Given the description of an element on the screen output the (x, y) to click on. 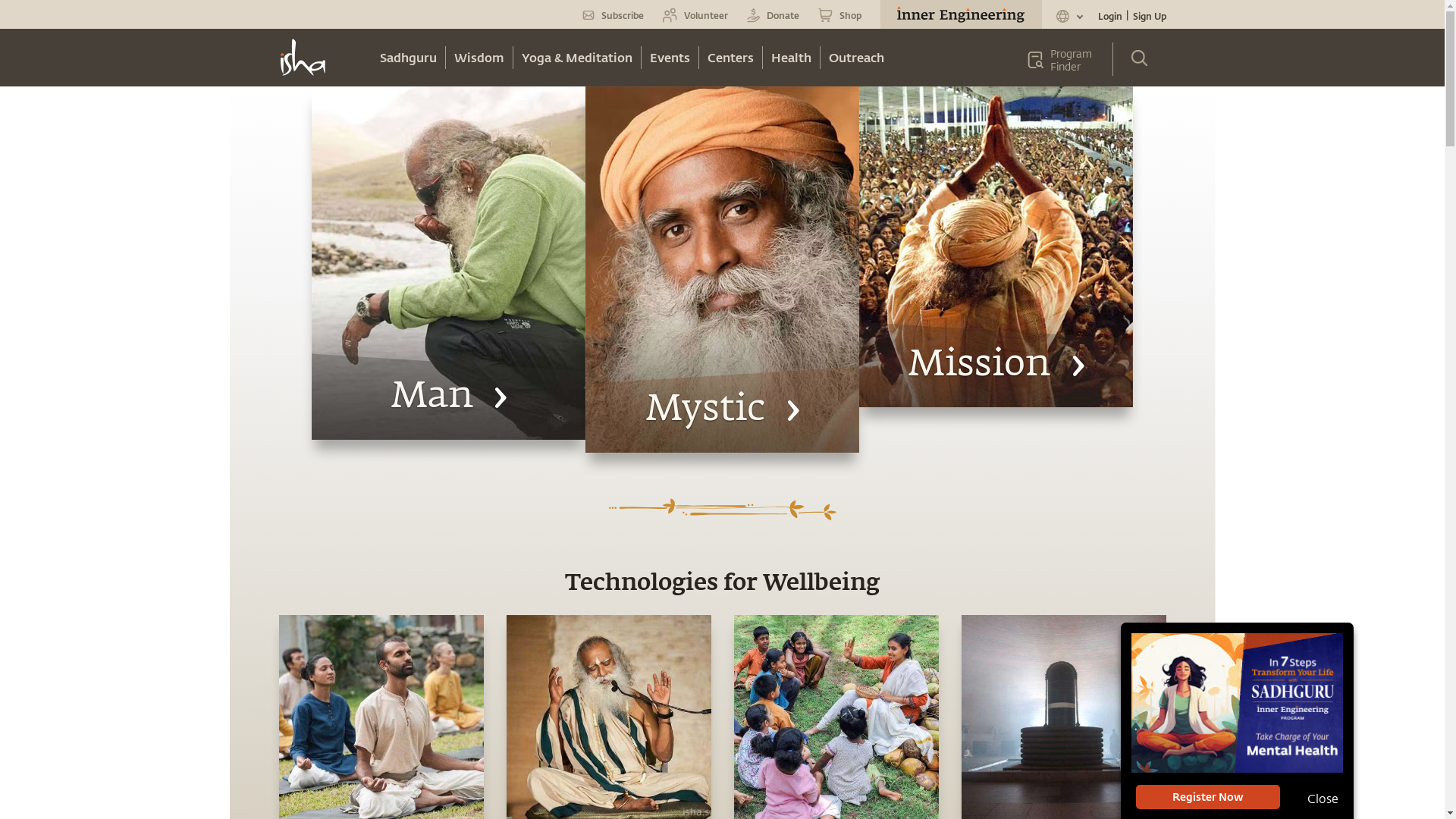
Subscribe Element type: text (612, 15)
Register Now Element type: text (1207, 796)
Centers Element type: text (730, 57)
Inner Engineering Element type: hover (1237, 703)
Yoga & Meditation Element type: text (576, 57)
Divider Image Element type: hover (721, 509)
Sign Up Element type: text (1148, 15)
Login Element type: text (1110, 15)
Wisdom Element type: text (479, 57)
Donate Element type: text (772, 15)
Close Element type: text (1311, 797)
Events Element type: text (670, 57)
Outreach Element type: text (856, 57)
Shop Element type: text (838, 15)
Man Element type: text (448, 262)
Volunteer Element type: text (695, 15)
Health Element type: text (791, 57)
Program Finder Element type: text (1064, 59)
Mission Element type: text (995, 246)
Sadhguru Element type: text (408, 57)
Mystic Element type: text (722, 269)
